Given the description of an element on the screen output the (x, y) to click on. 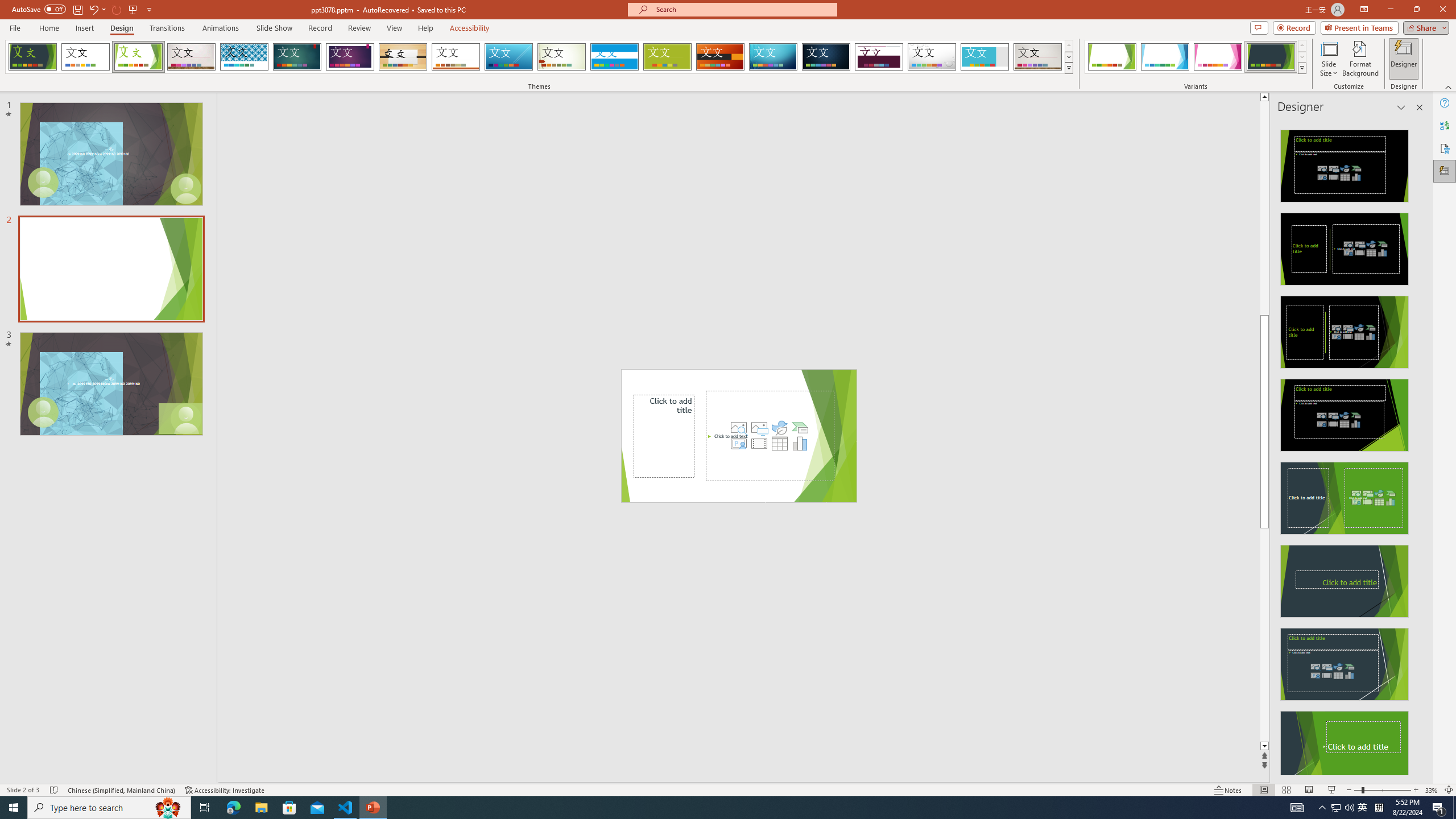
Design Idea (1344, 743)
Droplet (931, 56)
Page down (1264, 634)
Office Theme (85, 56)
Slide Size (1328, 58)
Retrospect (455, 56)
Dividend (879, 56)
